Given the description of an element on the screen output the (x, y) to click on. 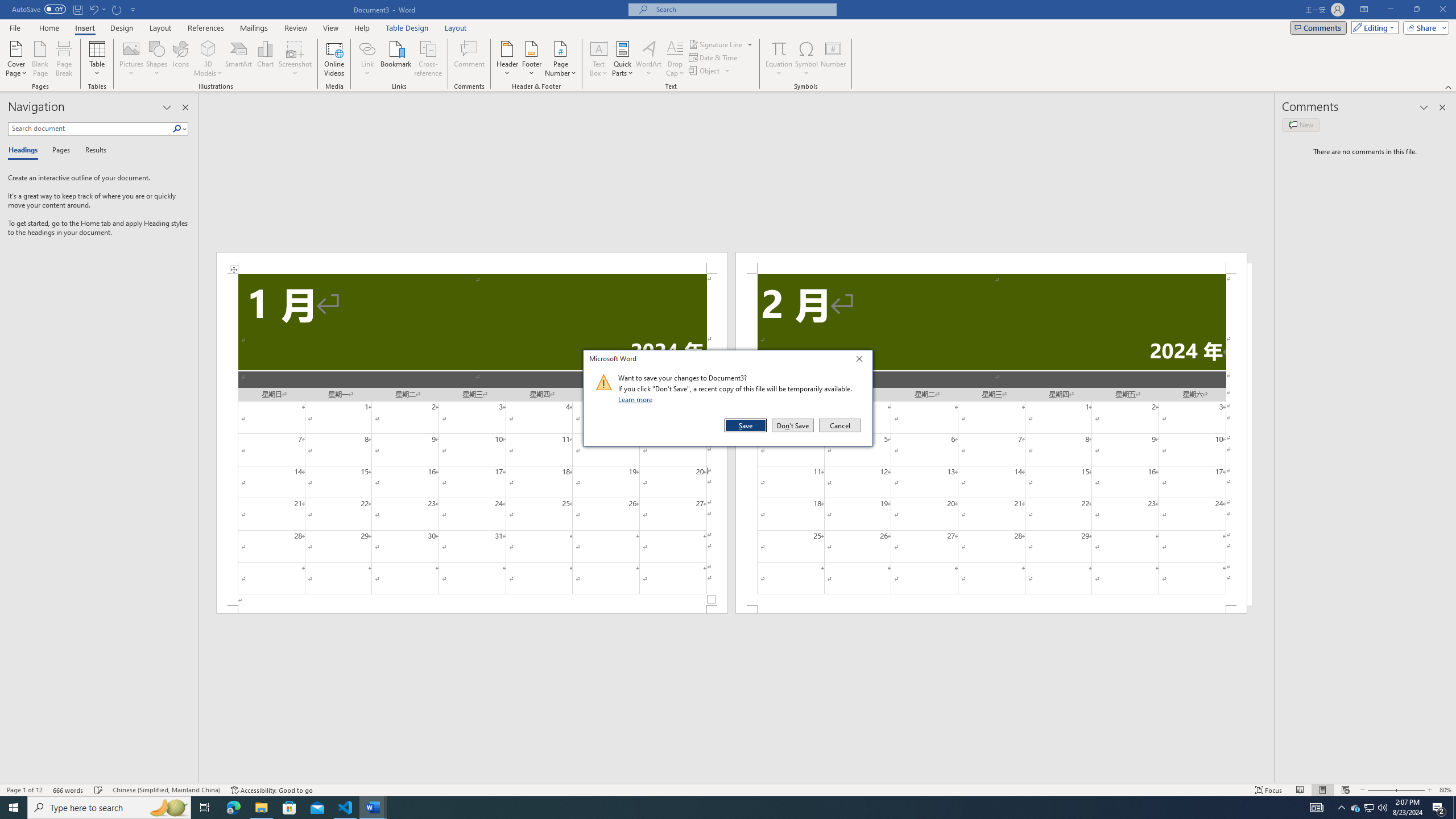
Results (91, 150)
Language Chinese (Simplified, Mainland China) (165, 790)
View (330, 28)
Web Layout (1344, 790)
Header -Section 1- (471, 263)
Table Design (407, 28)
Comment (469, 58)
Word - 2 running windows (373, 807)
SmartArt... (238, 58)
Page Number Page 1 of 12 (24, 790)
Spelling and Grammar Check Checking (98, 790)
Shapes (156, 58)
Chart... (265, 58)
Zoom In (1408, 790)
File Tab (15, 27)
